Given the description of an element on the screen output the (x, y) to click on. 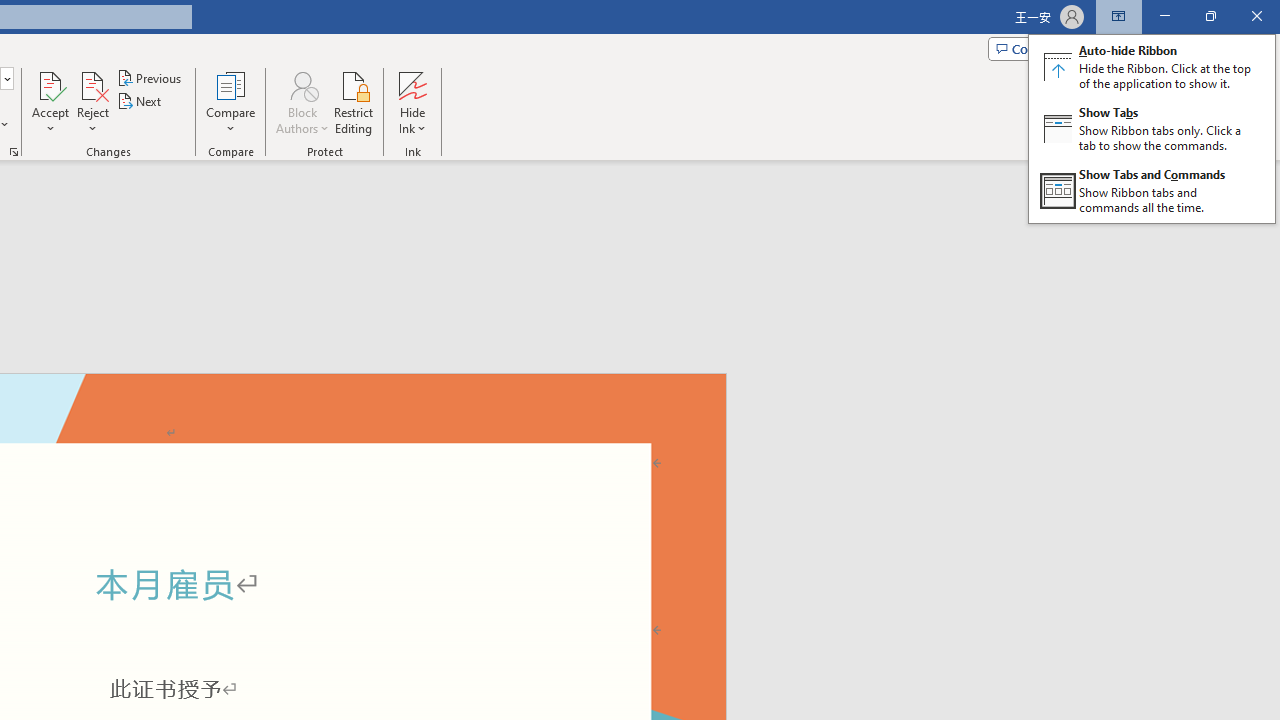
Block Authors (302, 84)
Hide Ink (412, 84)
Change Tracking Options... (13, 151)
Hide Ink (412, 102)
Open (6, 78)
Reject and Move to Next (92, 84)
Compare (230, 102)
Previous (150, 78)
Reject (92, 102)
Block Authors (302, 102)
